Given the description of an element on the screen output the (x, y) to click on. 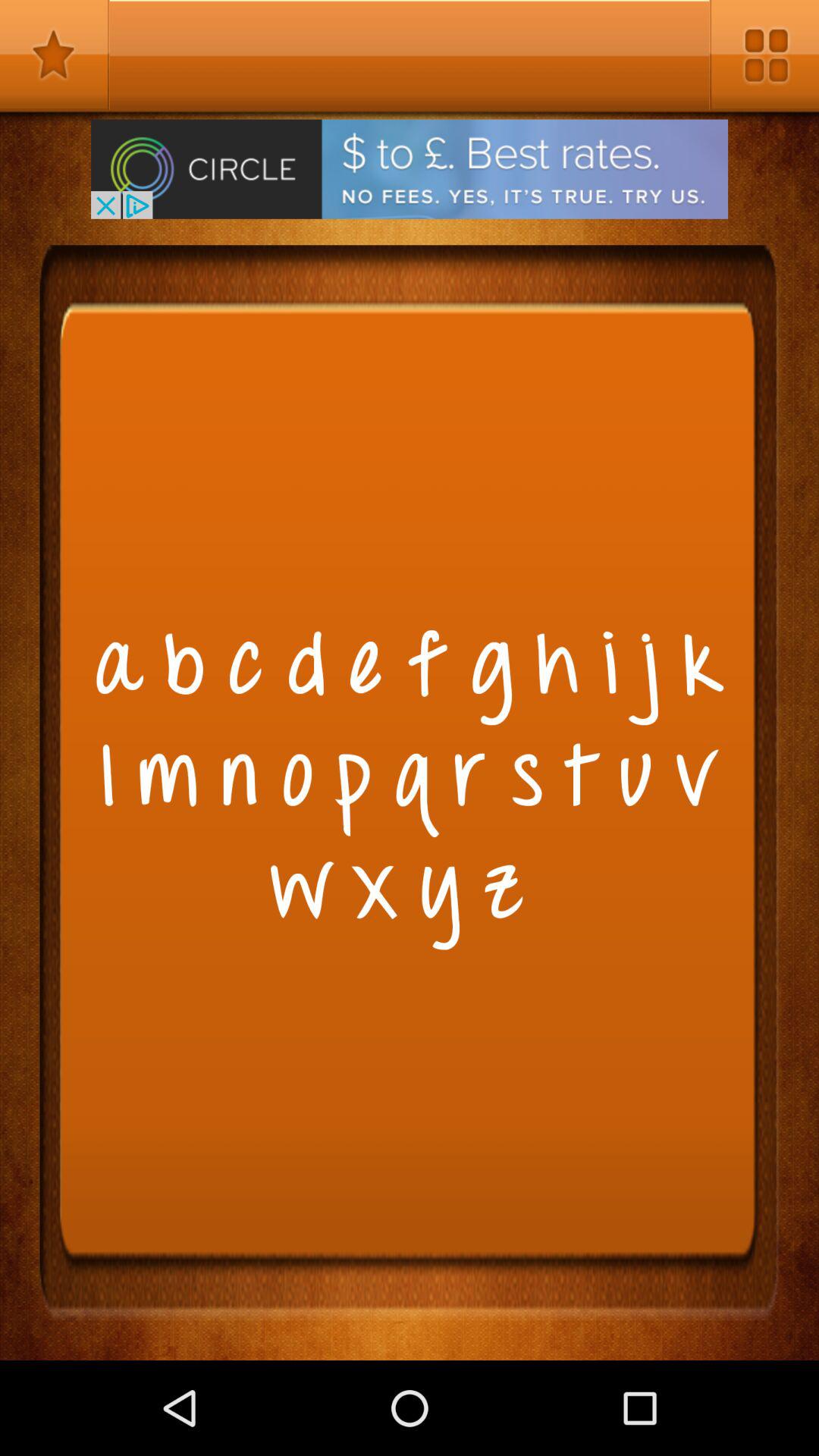
choose favourites (54, 54)
